Given the description of an element on the screen output the (x, y) to click on. 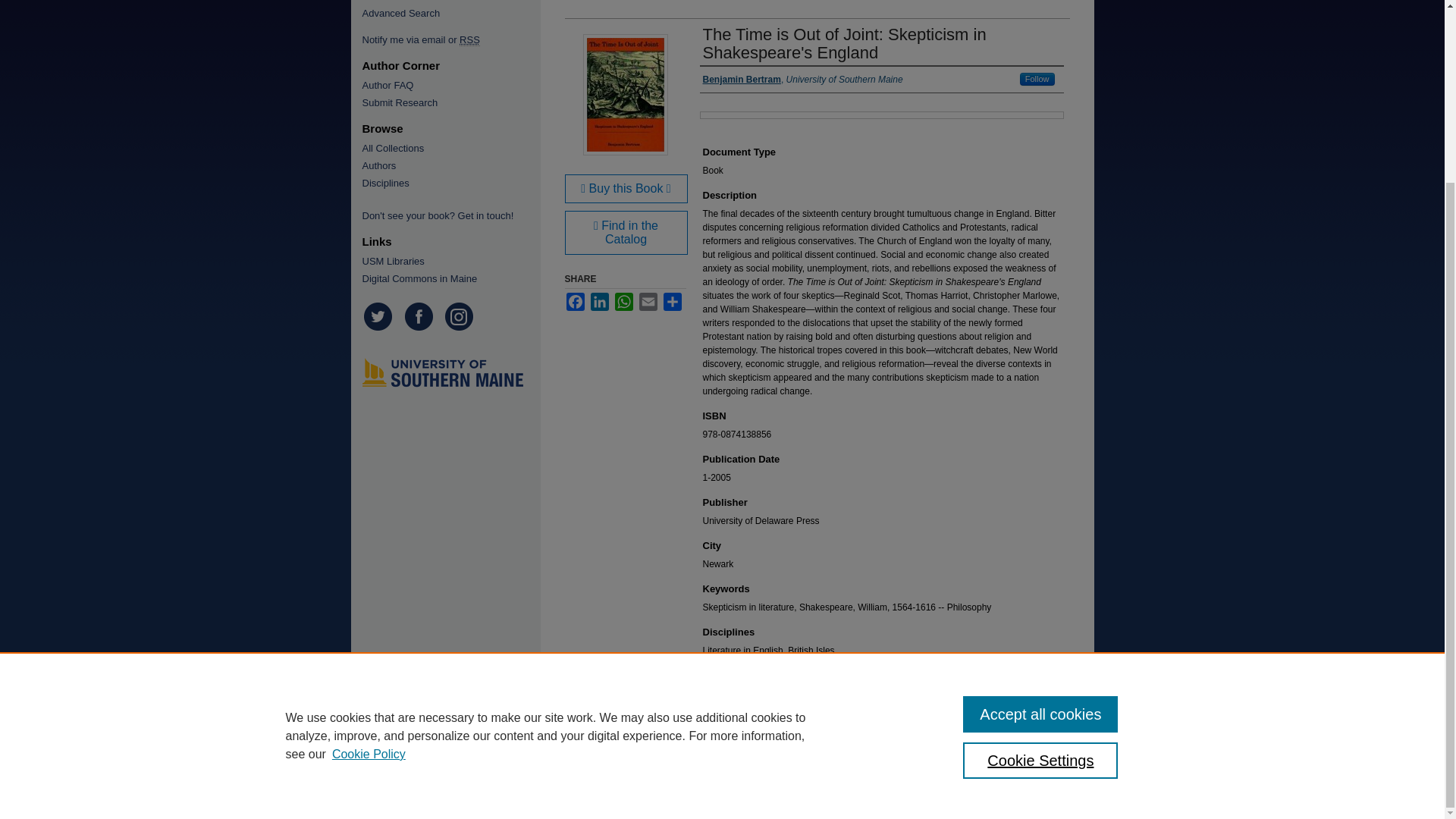
LinkedIn (599, 301)
Follow Benjamin Bertram (1037, 78)
Really Simple Syndication (470, 39)
Find in the Catalog (625, 232)
Author FAQ (447, 84)
Authors (447, 165)
USM Libraries (447, 260)
WhatsApp (622, 301)
Email (647, 301)
Buy this Book (625, 188)
Browse by Author (447, 165)
Disciplines (447, 183)
Browse by All Collections (447, 147)
Author FAQ (447, 84)
Don't see your book? Get in touch! (447, 215)
